Given the description of an element on the screen output the (x, y) to click on. 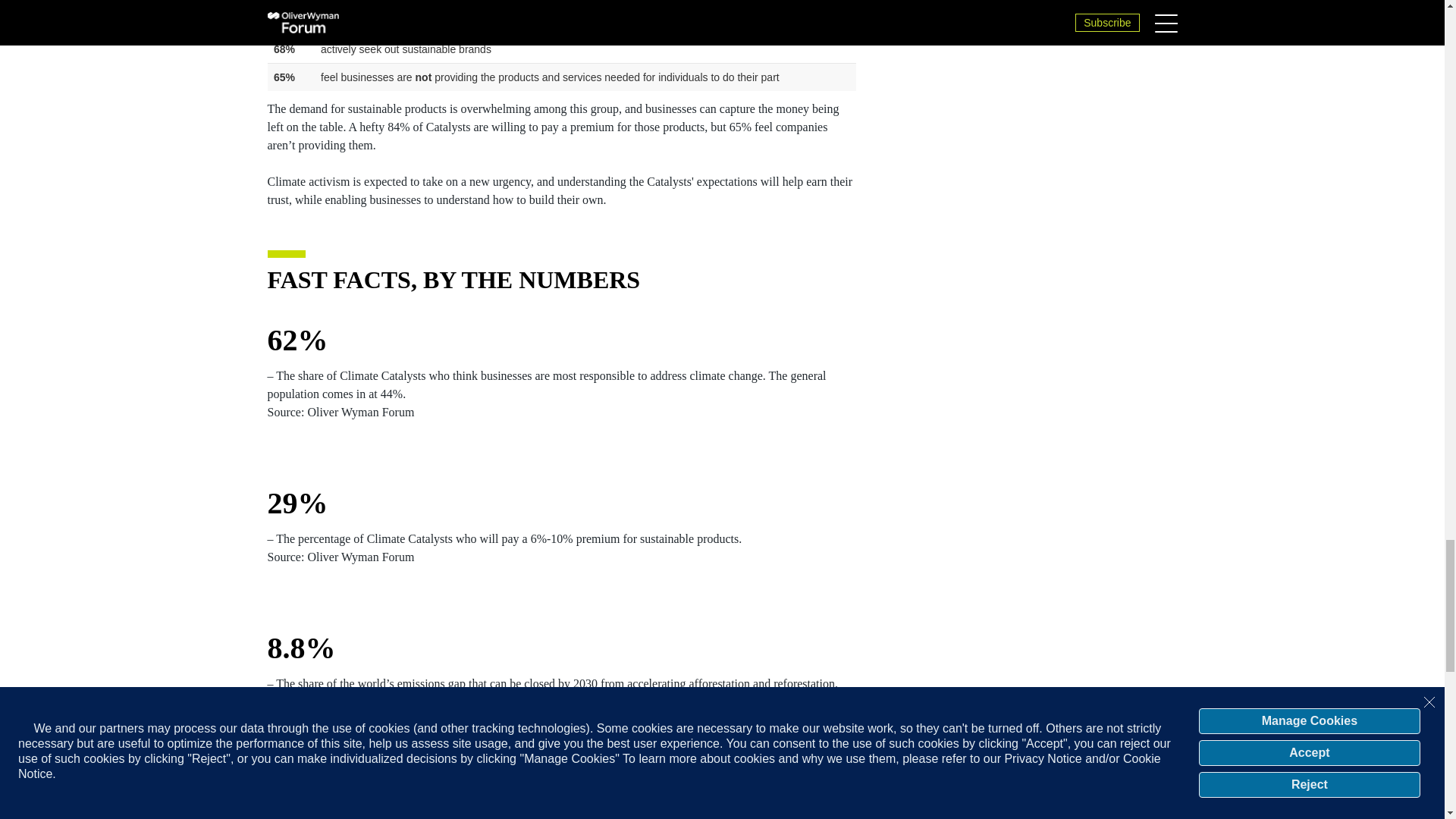
Lorem Ipsum  (561, 48)
